Given the description of an element on the screen output the (x, y) to click on. 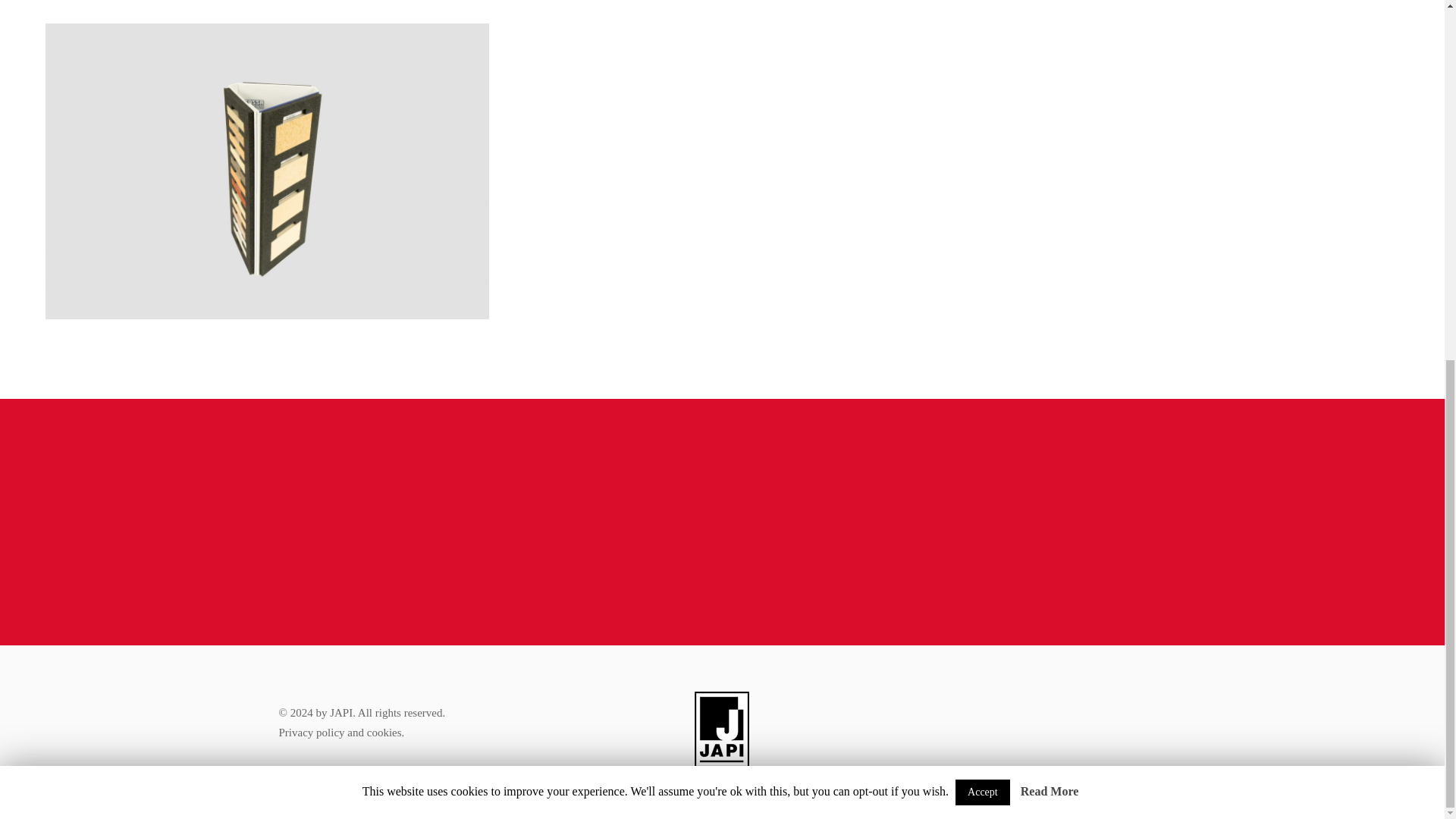
Read More (1049, 152)
Accept (982, 153)
Privacy policy and cookies (340, 732)
Privacy policy and cookies (340, 732)
